Given the description of an element on the screen output the (x, y) to click on. 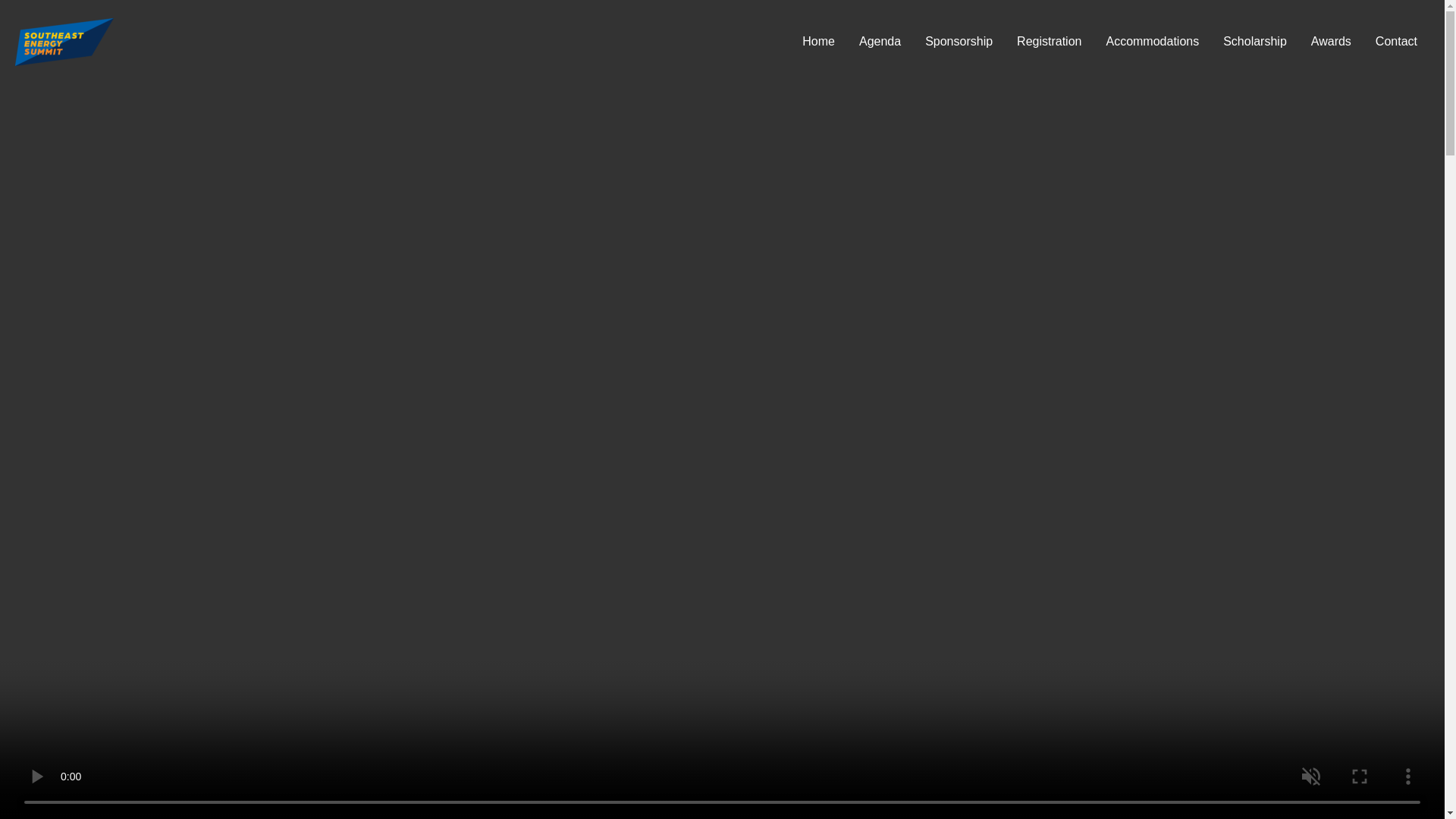
Sponsorship (958, 41)
Registration (1048, 41)
Accommodations (1152, 41)
Scholarship (1254, 41)
